Given the description of an element on the screen output the (x, y) to click on. 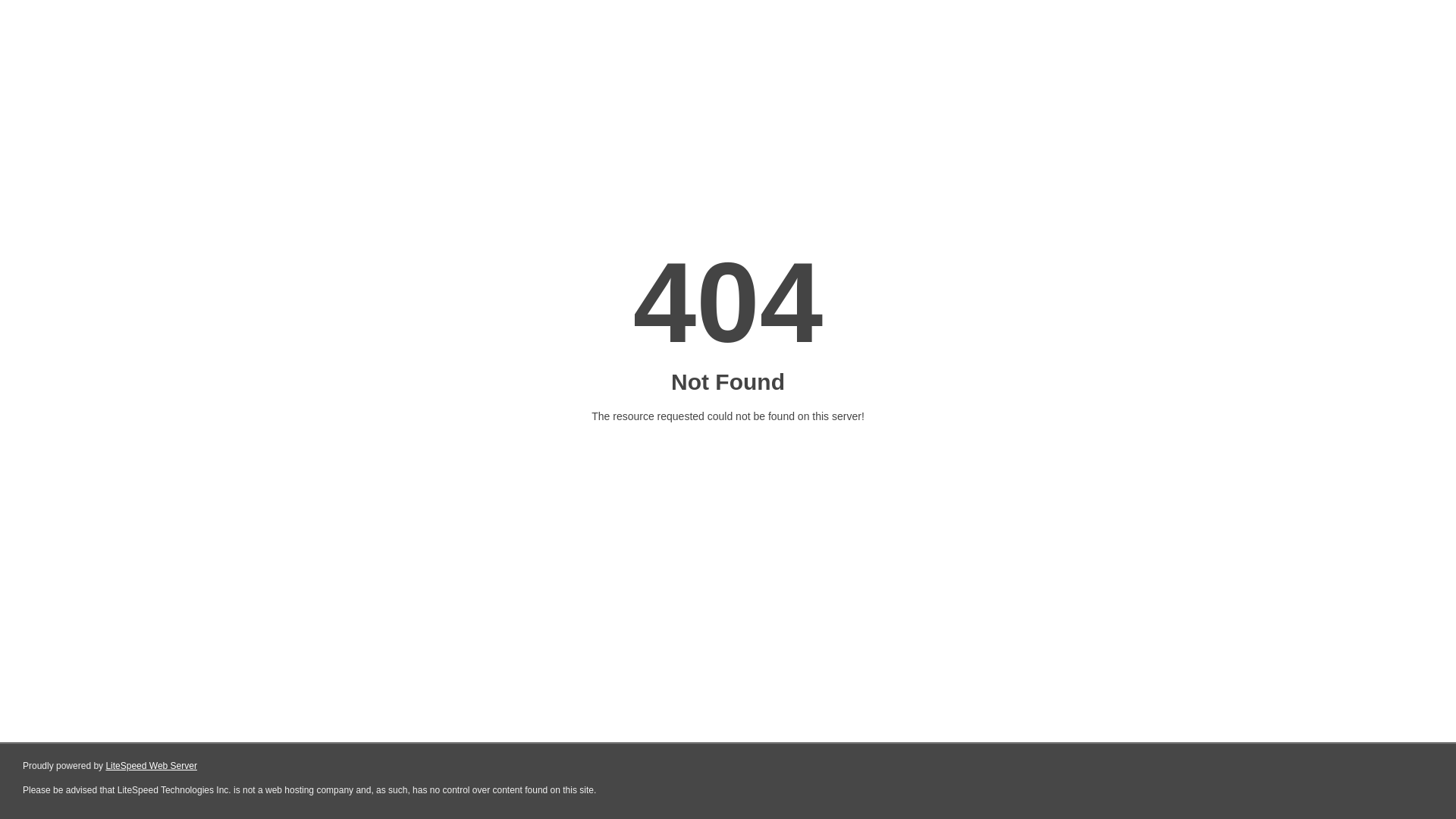
LiteSpeed Web Server Element type: text (151, 765)
